Given the description of an element on the screen output the (x, y) to click on. 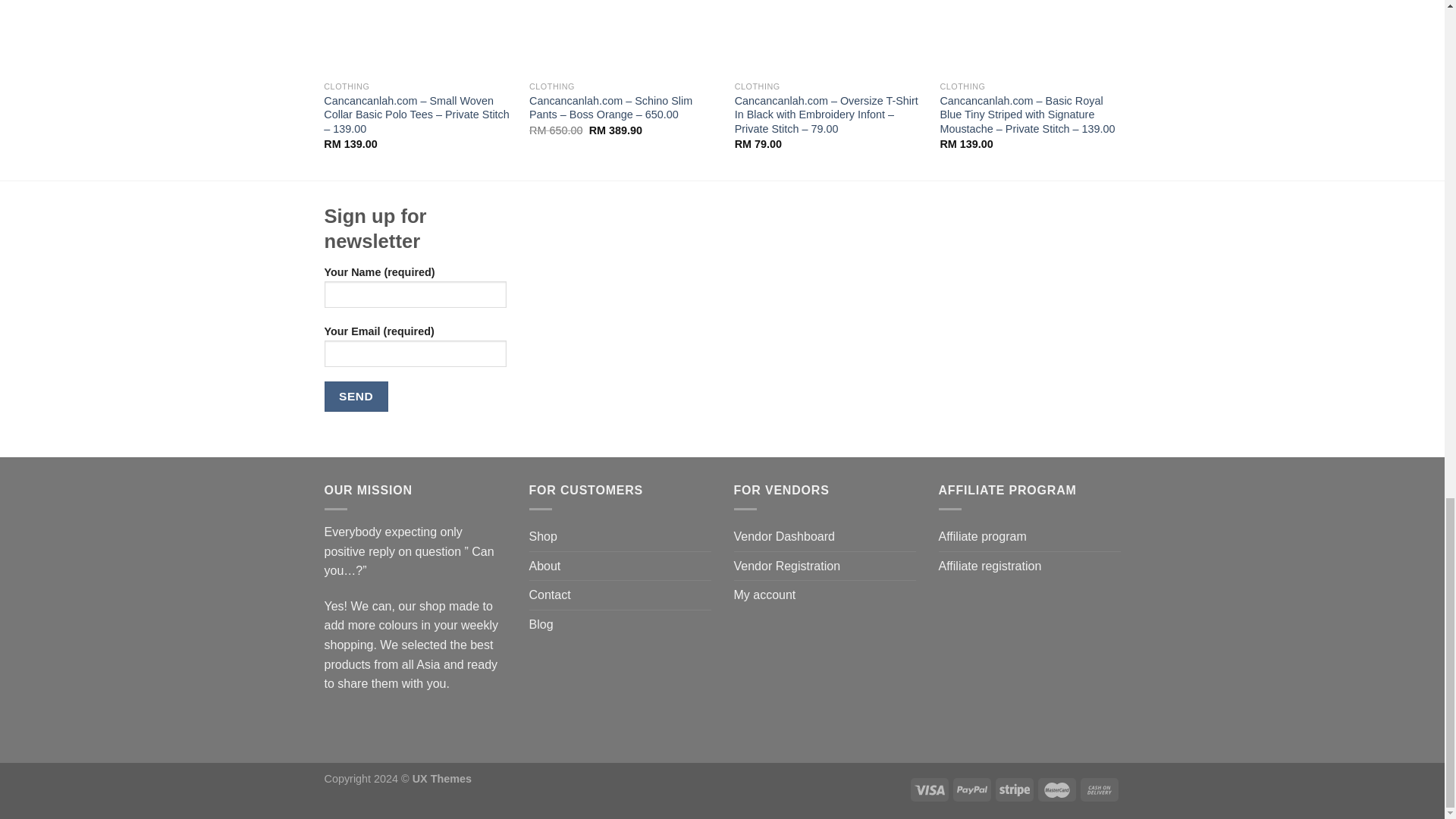
Send (356, 396)
